Given the description of an element on the screen output the (x, y) to click on. 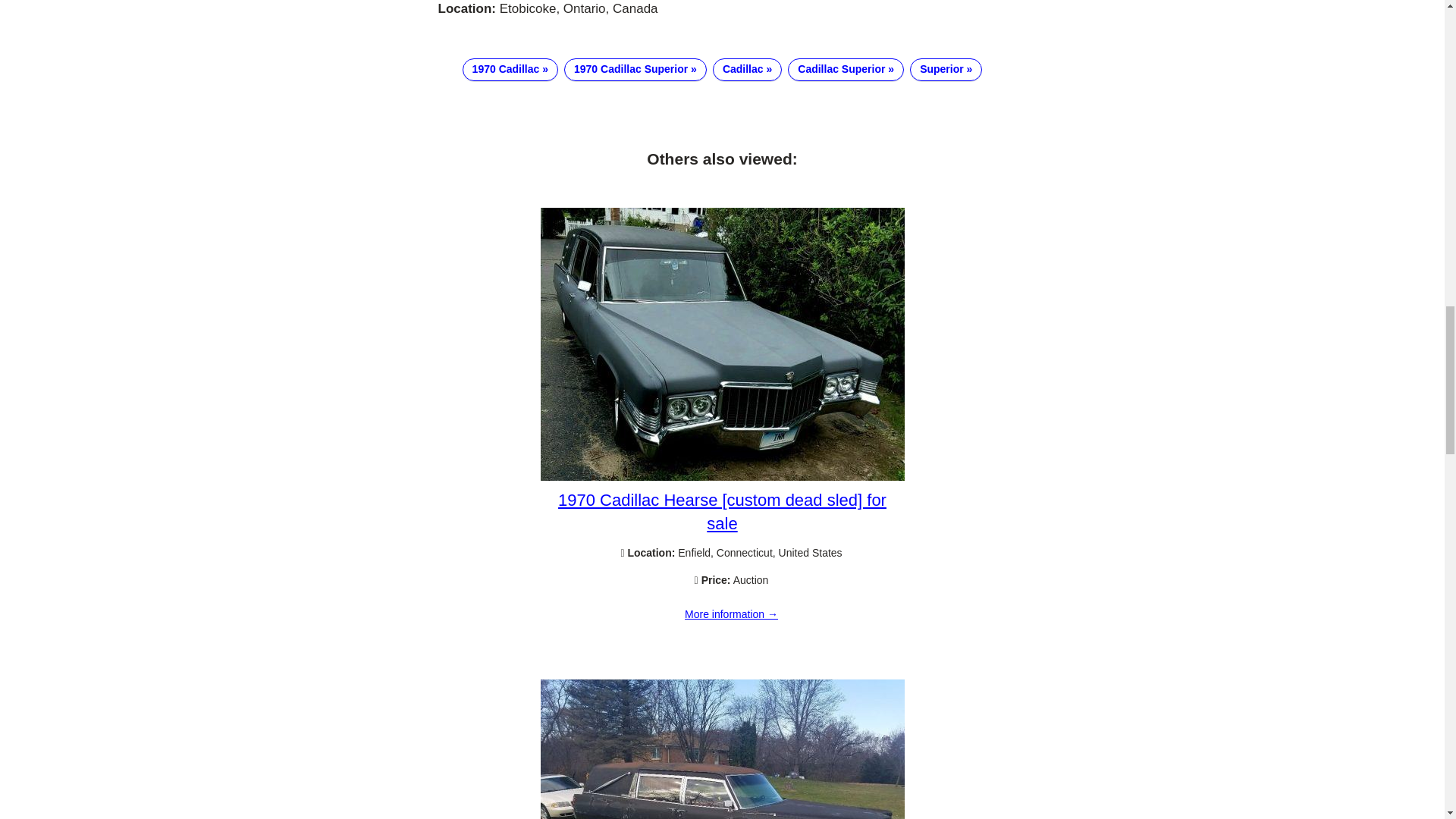
1970 Cadillac (510, 69)
Cadillac (747, 69)
Superior (945, 69)
Cadillac Superior (845, 69)
1970 Cadillac Superior (635, 69)
